Given the description of an element on the screen output the (x, y) to click on. 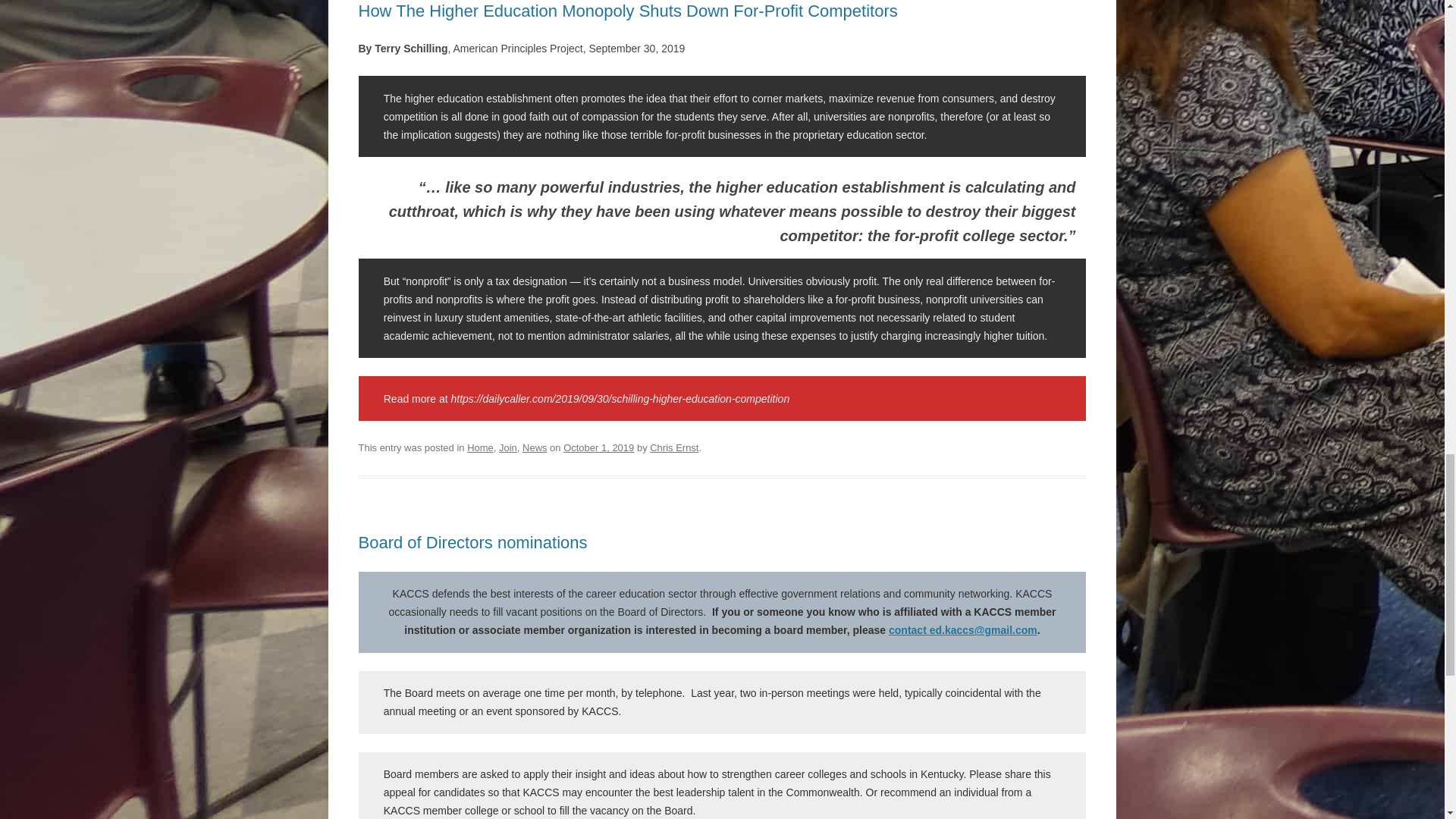
News (534, 447)
Join (507, 447)
View all posts by Chris Ernst (673, 447)
7:20 pm (598, 447)
Home (480, 447)
